Given the description of an element on the screen output the (x, y) to click on. 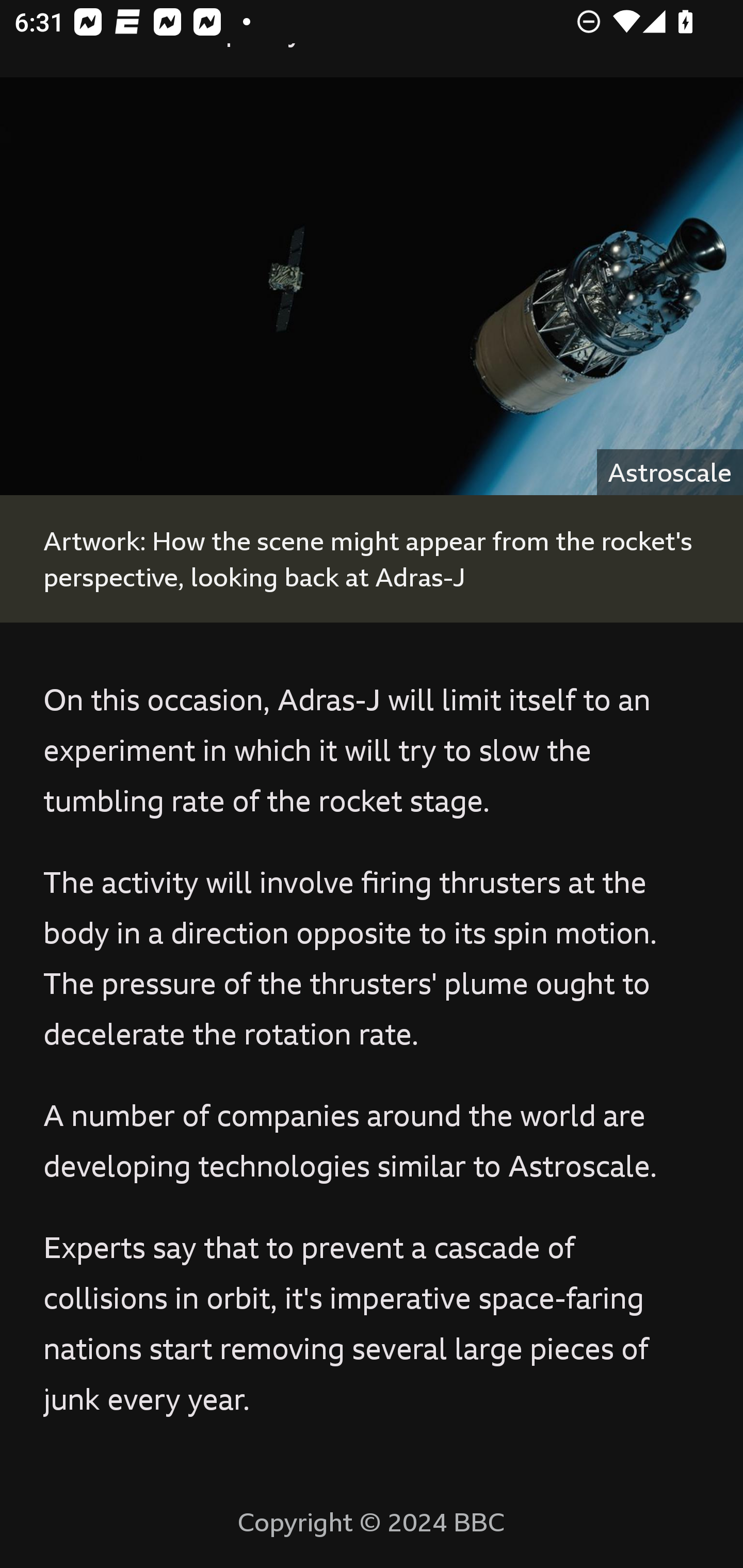
Artwork of rendezvous (371, 285)
